Given the description of an element on the screen output the (x, y) to click on. 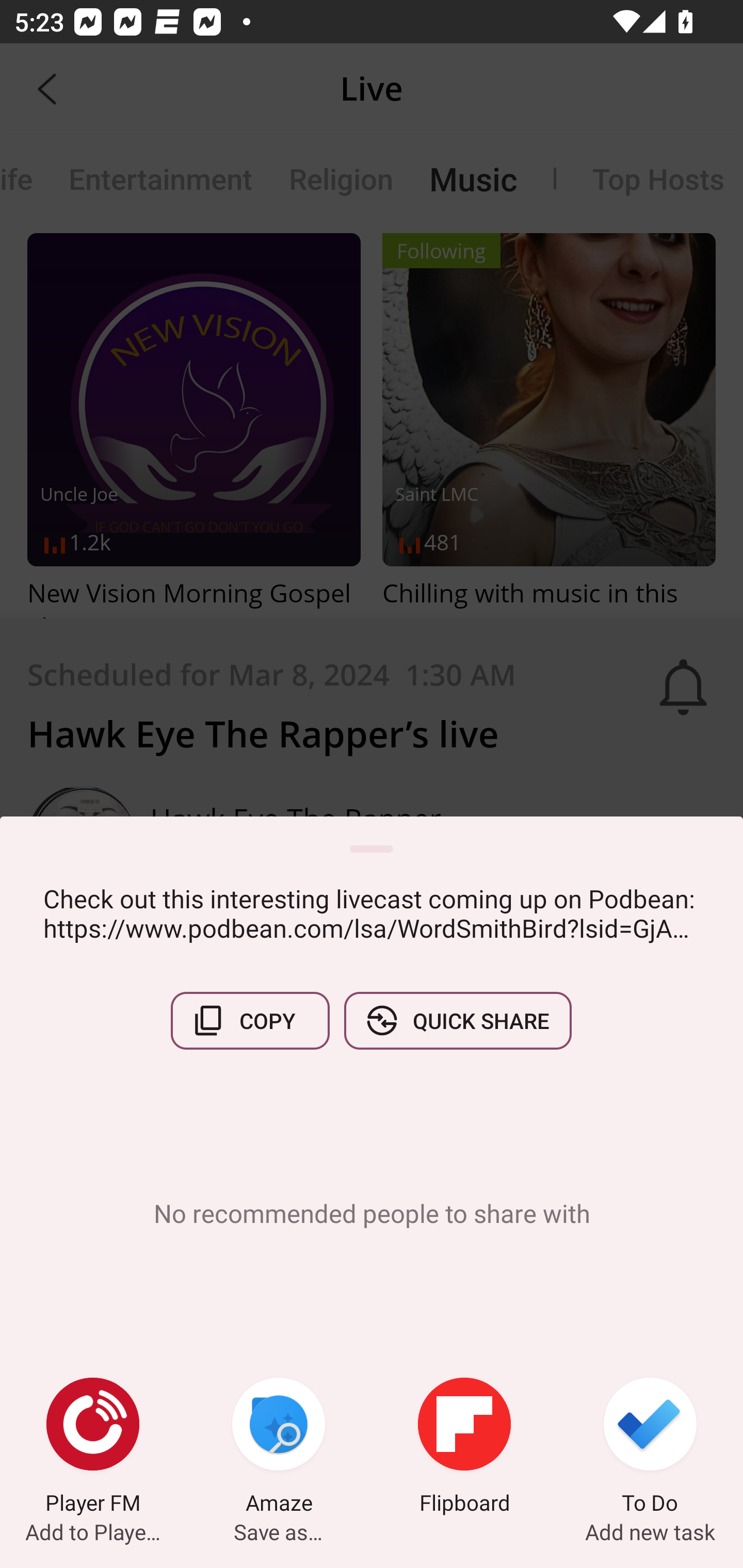
COPY (249, 1020)
QUICK SHARE (457, 1020)
Player FM Add to Player FM (92, 1448)
Amaze Save as… (278, 1448)
Flipboard (464, 1448)
To Do Add new task (650, 1448)
